Given the description of an element on the screen output the (x, y) to click on. 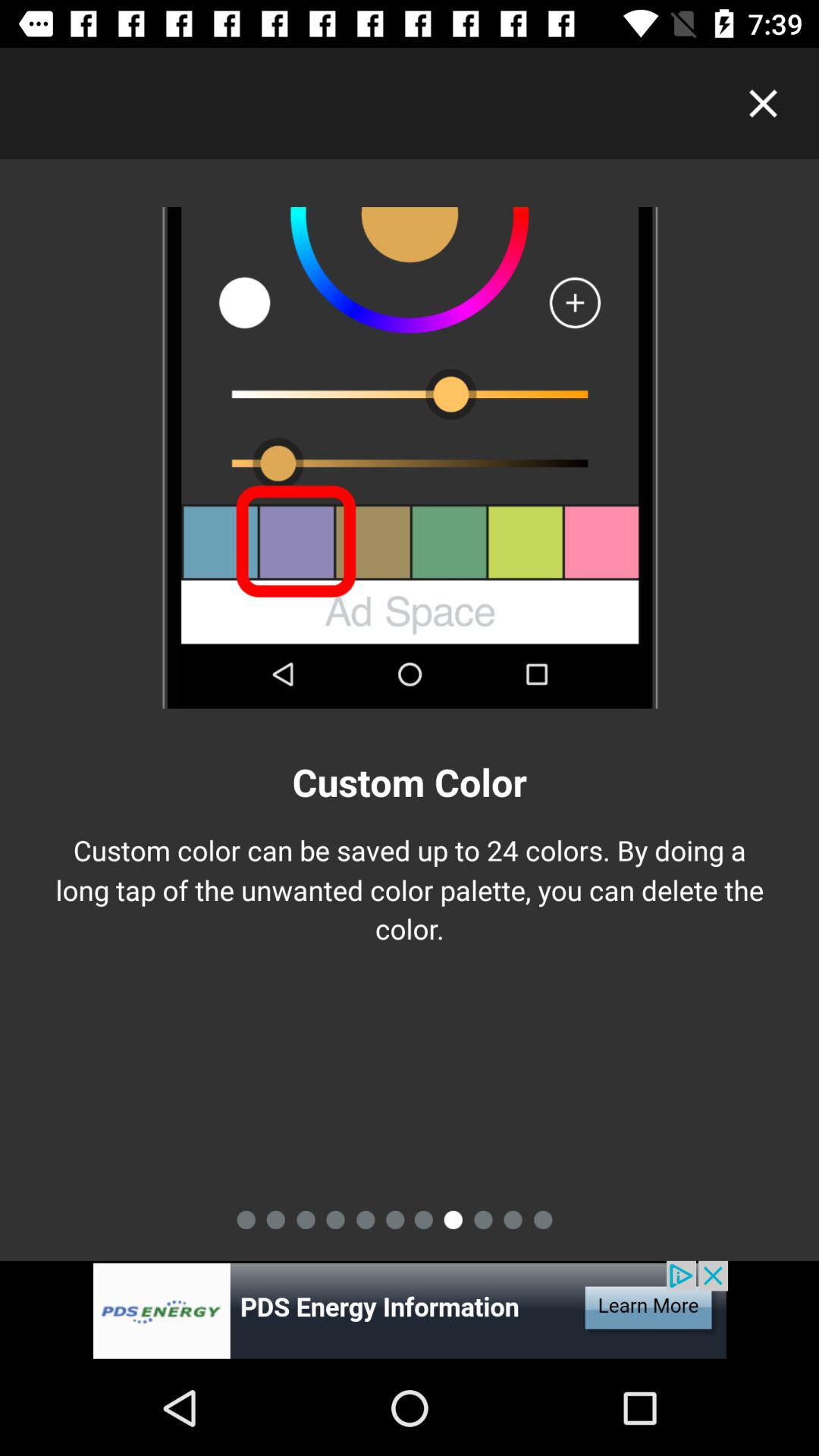
know about the advertisement (409, 1310)
